Given the description of an element on the screen output the (x, y) to click on. 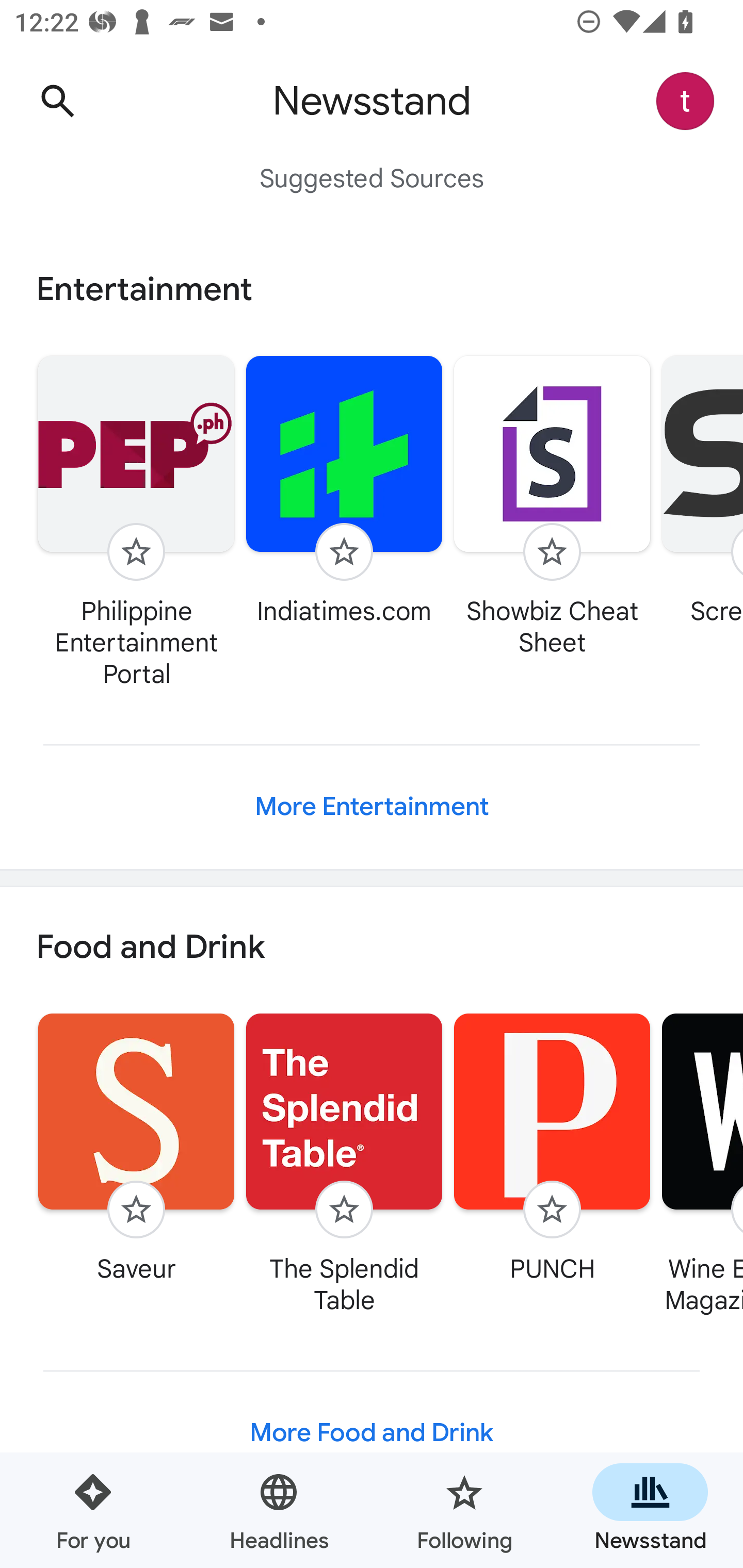
Search (57, 100)
Entertainment (371, 288)
Follow Philippine Entertainment Portal (136, 521)
Follow Indiatimes.com (344, 489)
Follow Showbiz Cheat Sheet (552, 505)
Follow (135, 551)
Follow (343, 551)
Follow (552, 551)
More Entertainment (371, 806)
Food and Drink (371, 947)
Follow Saveur (136, 1147)
Follow The Splendid Table (344, 1163)
Follow PUNCH (552, 1147)
Follow (135, 1209)
Follow (343, 1209)
Follow (552, 1209)
More Food and Drink (371, 1432)
For you (92, 1509)
Headlines (278, 1509)
Following (464, 1509)
Newsstand (650, 1509)
